Given the description of an element on the screen output the (x, y) to click on. 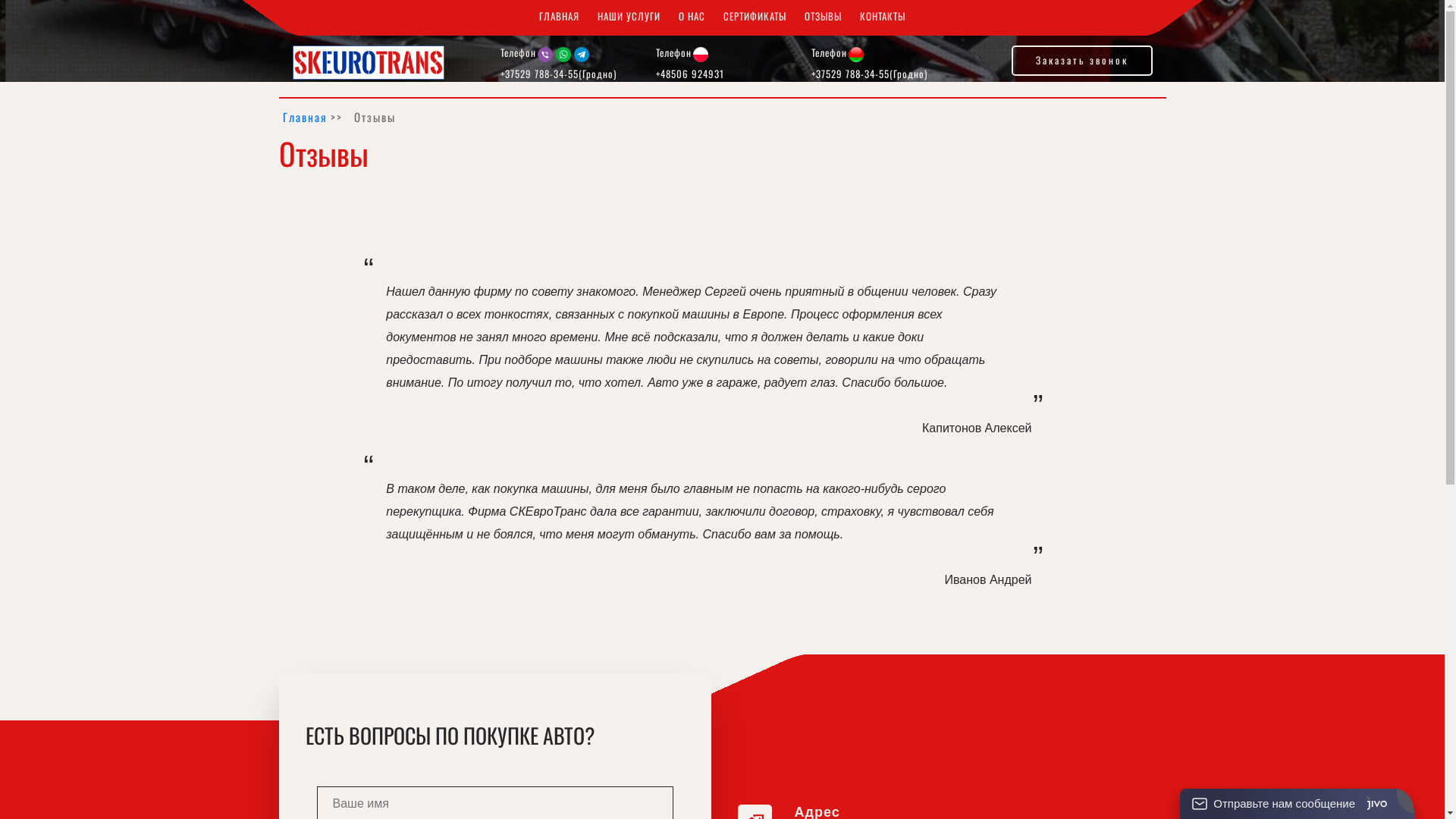
+48506 924931 Element type: text (689, 72)
